Given the description of an element on the screen output the (x, y) to click on. 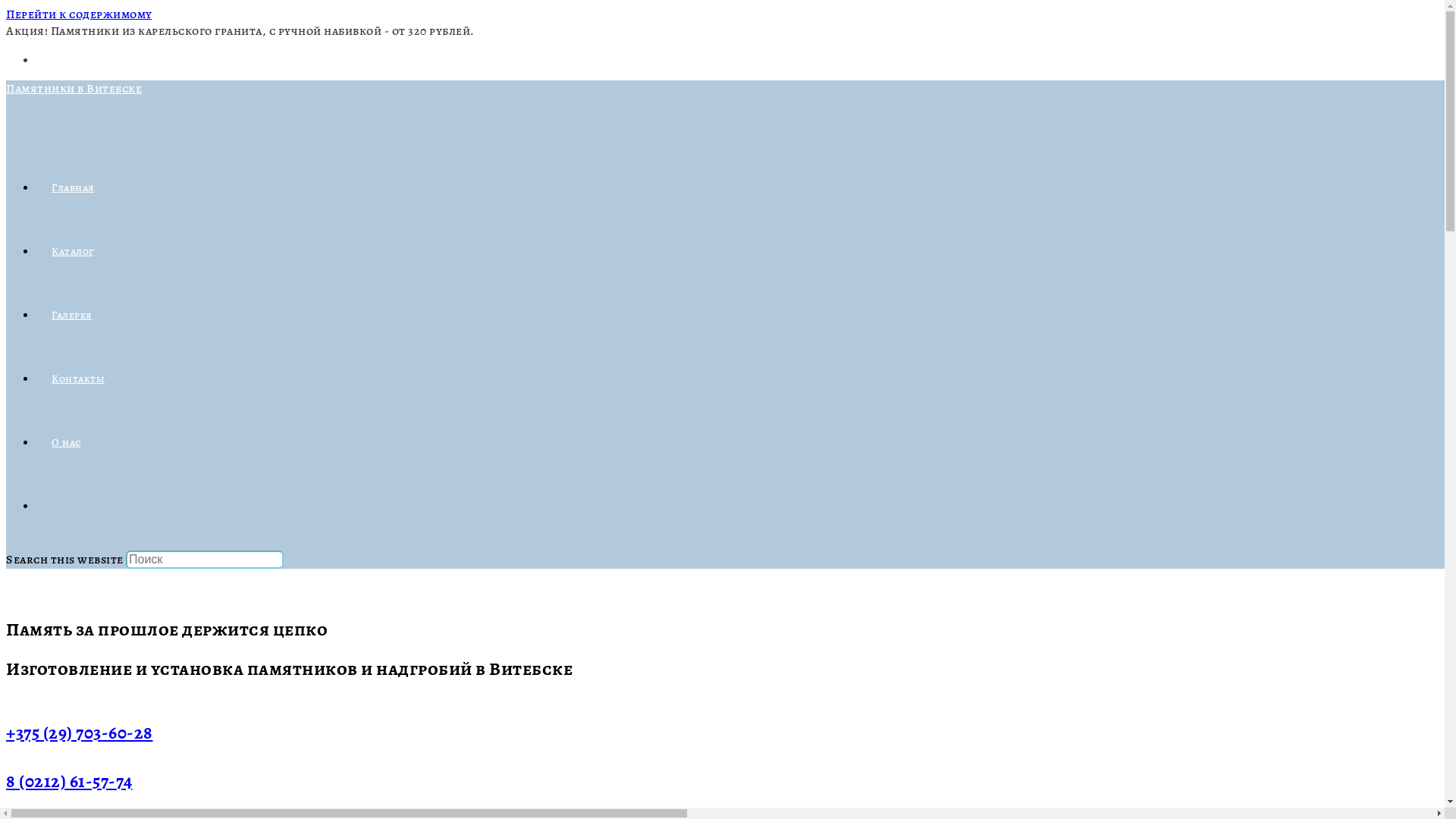
+375 (29) 703-60-28 Element type: text (79, 732)
8 (0212) 61-57-74 Element type: text (69, 780)
